Given the description of an element on the screen output the (x, y) to click on. 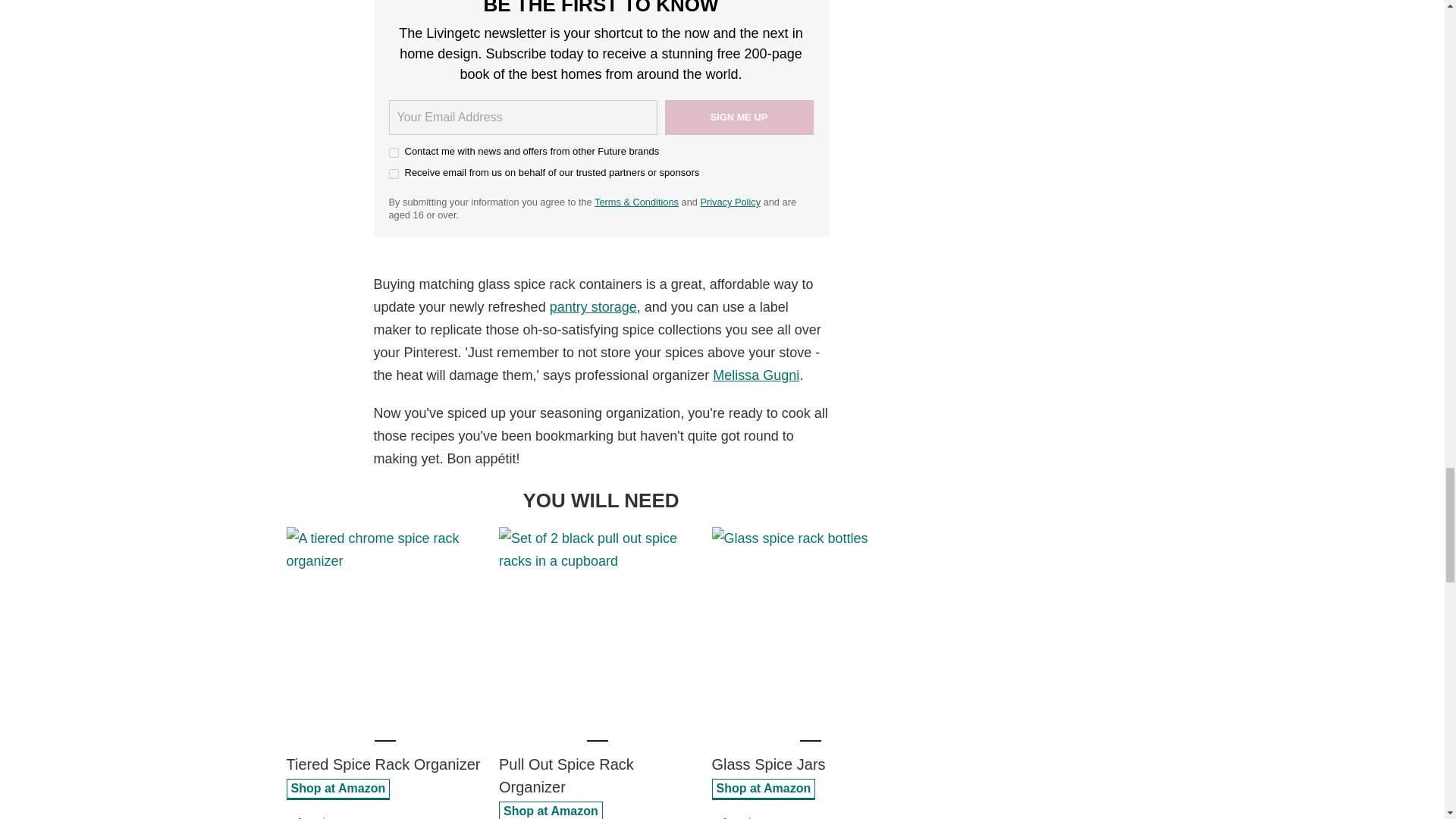
on (392, 173)
on (392, 153)
Sign me up (737, 117)
